Given the description of an element on the screen output the (x, y) to click on. 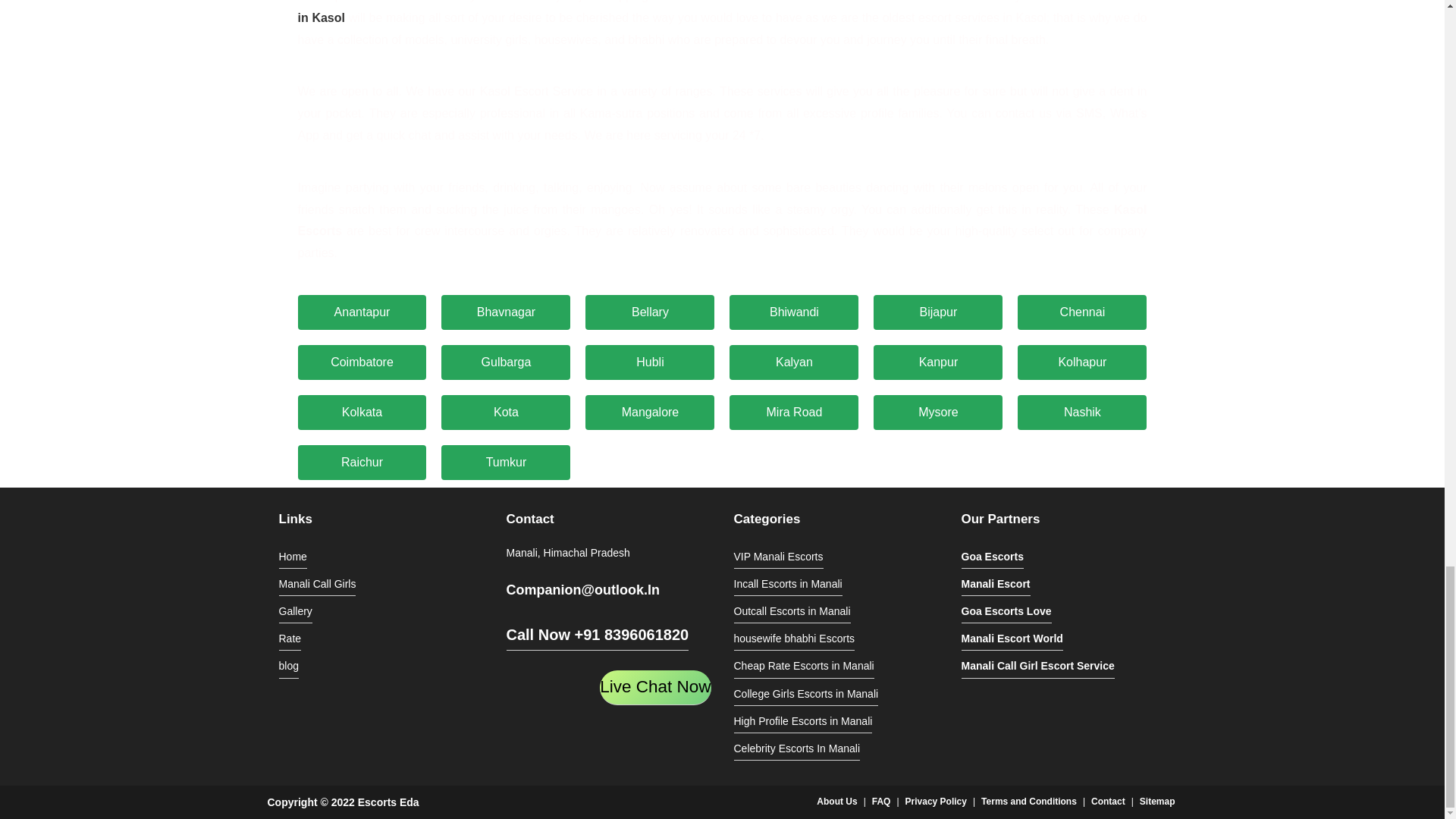
blog (288, 666)
Mangalore (649, 411)
Raichur (361, 462)
Kanpur (938, 362)
Bhavnagar (505, 312)
Kalyan (794, 362)
Gallery (296, 611)
Rate (290, 639)
Anantapur (361, 312)
Chennai (1082, 312)
Manali Call Girls (317, 584)
Bellary (649, 312)
Bhiwandi (794, 312)
Kolhapur (1082, 362)
Mira Road (794, 411)
